Given the description of an element on the screen output the (x, y) to click on. 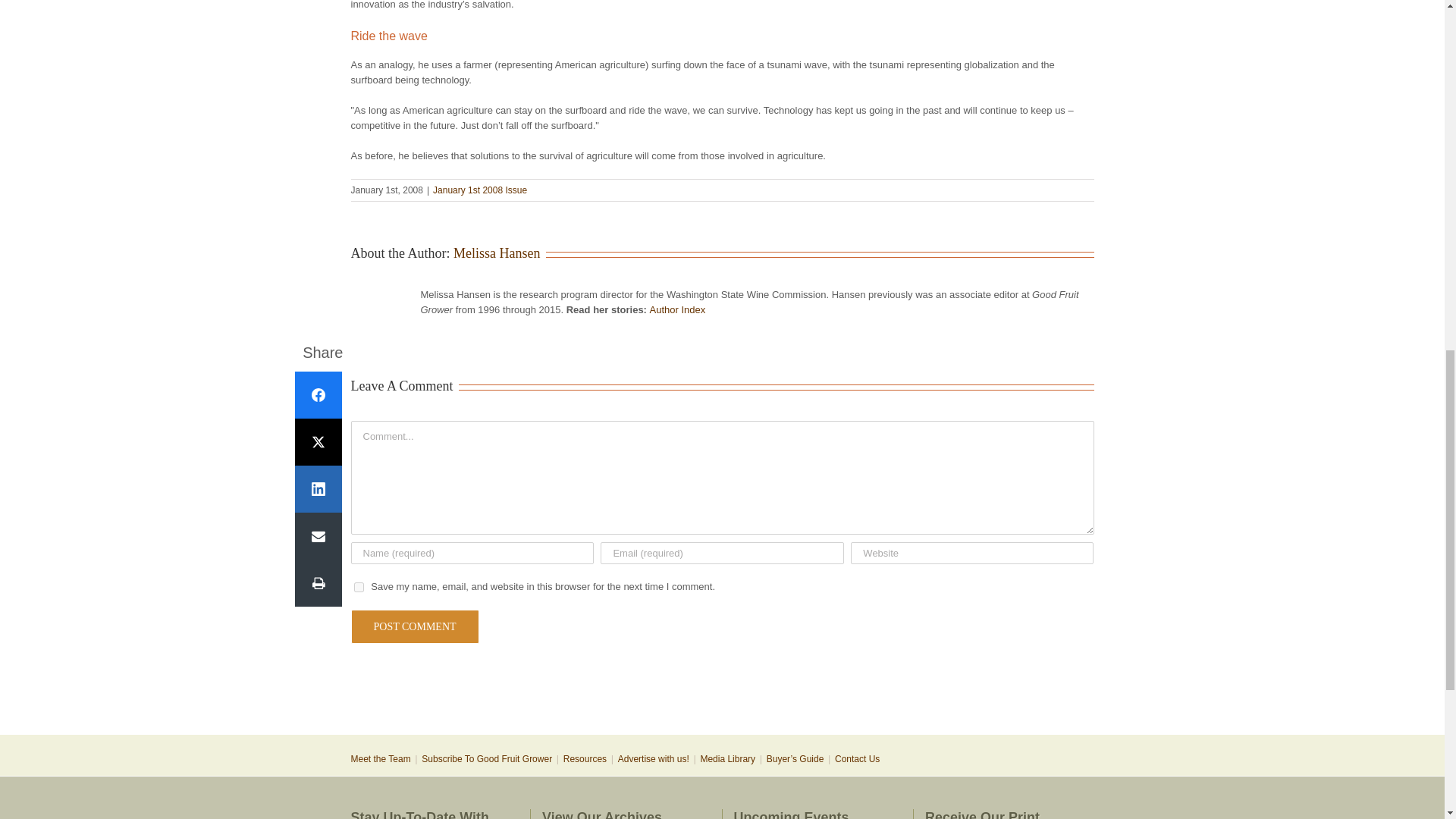
yes (357, 587)
3rd party ad content (721, 684)
Posts by Melissa Hansen (496, 253)
Post Comment (414, 626)
